Given the description of an element on the screen output the (x, y) to click on. 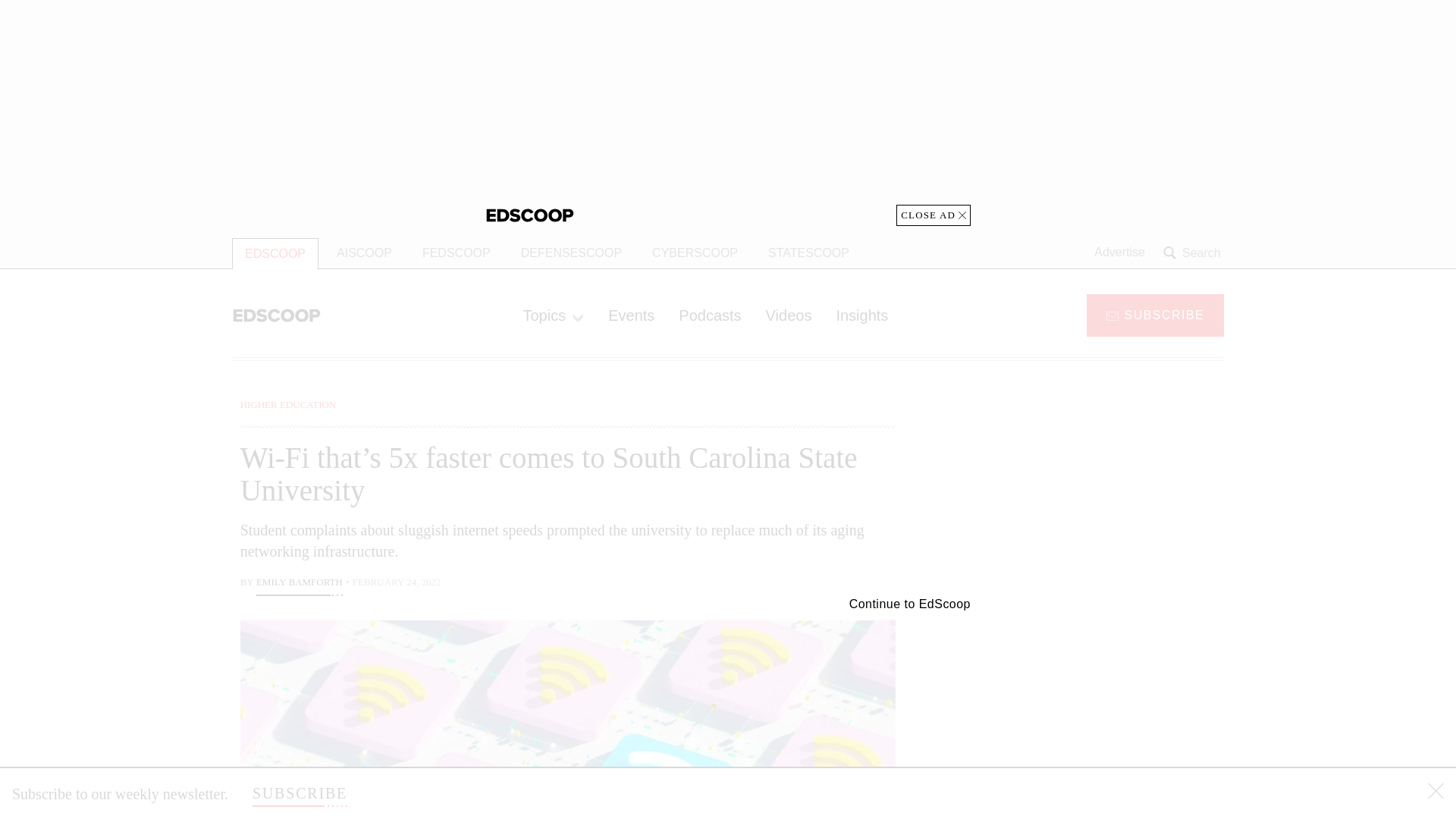
AISCOOP (364, 253)
3rd party ad content (1101, 492)
HIGHER EDUCATION (288, 404)
3rd party ad content (727, 112)
Videos (789, 315)
3rd party ad content (1101, 705)
DEFENSESCOOP (570, 253)
Advertise (1119, 252)
SUBSCRIBE (1155, 314)
SUBSCRIBE (299, 793)
